Given the description of an element on the screen output the (x, y) to click on. 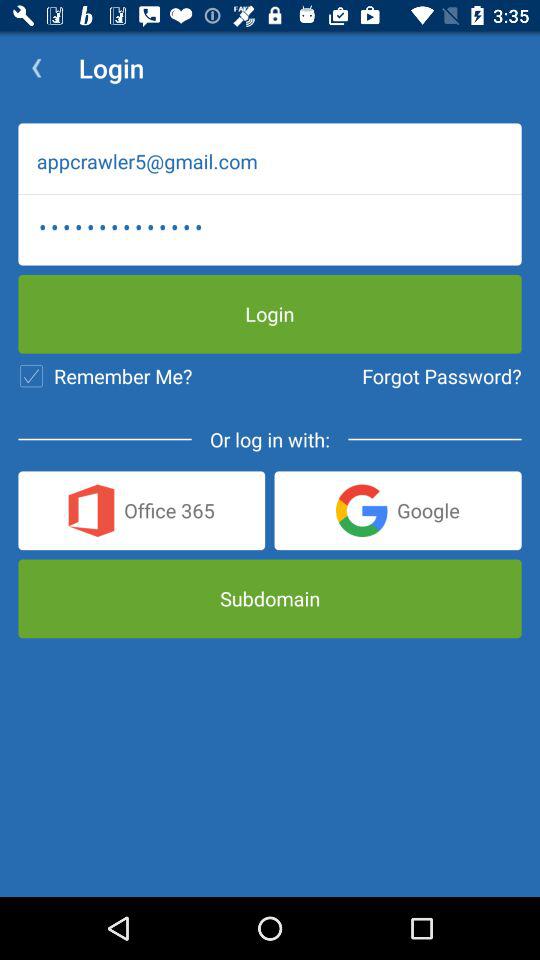
swipe until subdomain icon (269, 598)
